Given the description of an element on the screen output the (x, y) to click on. 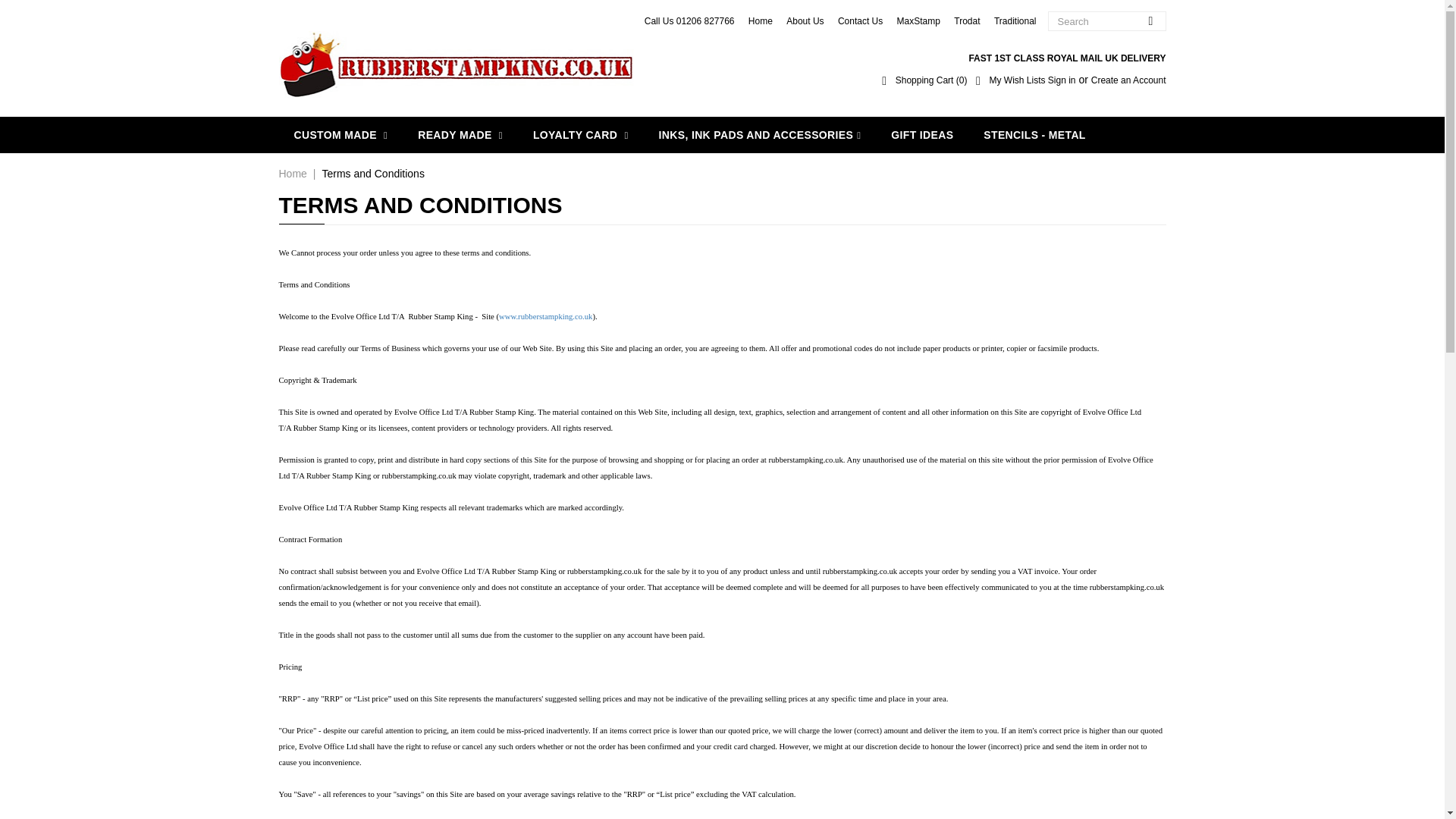
Contact Us (860, 20)
READY MADE (460, 135)
Home (760, 20)
Create an Account (1128, 80)
Sign in (1061, 80)
My Wish Lists (1008, 80)
Traditional (1015, 20)
About Us (805, 20)
Trodat (966, 20)
MaxStamp (918, 20)
